Given the description of an element on the screen output the (x, y) to click on. 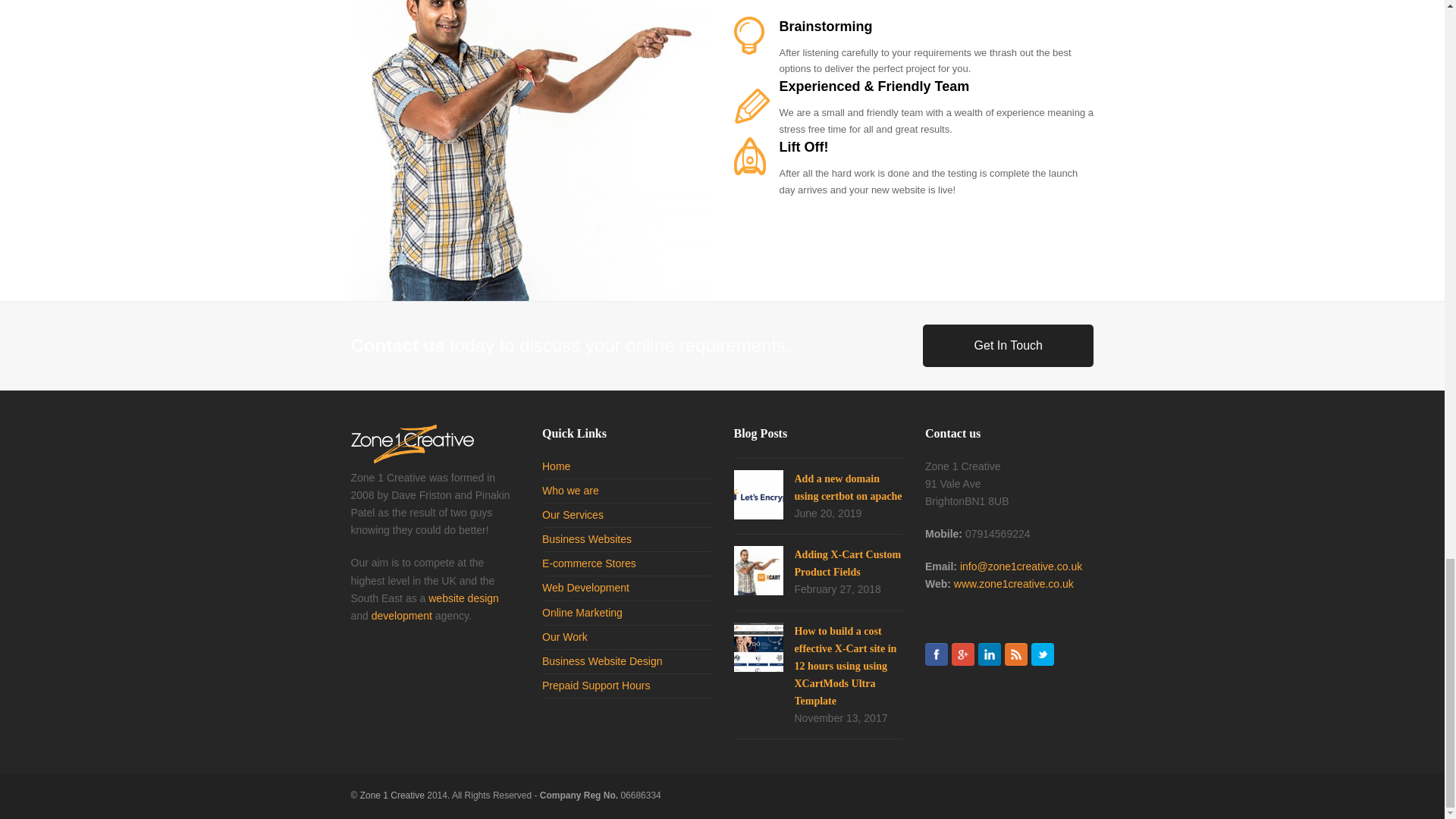
Home (555, 466)
Our Services (572, 514)
Get In Touch (1008, 345)
E-commerce Stores (588, 563)
development (401, 615)
website design (463, 598)
Web Development (584, 587)
Business Websites (586, 539)
Who we are (569, 490)
Online Marketing (582, 612)
